Given the description of an element on the screen output the (x, y) to click on. 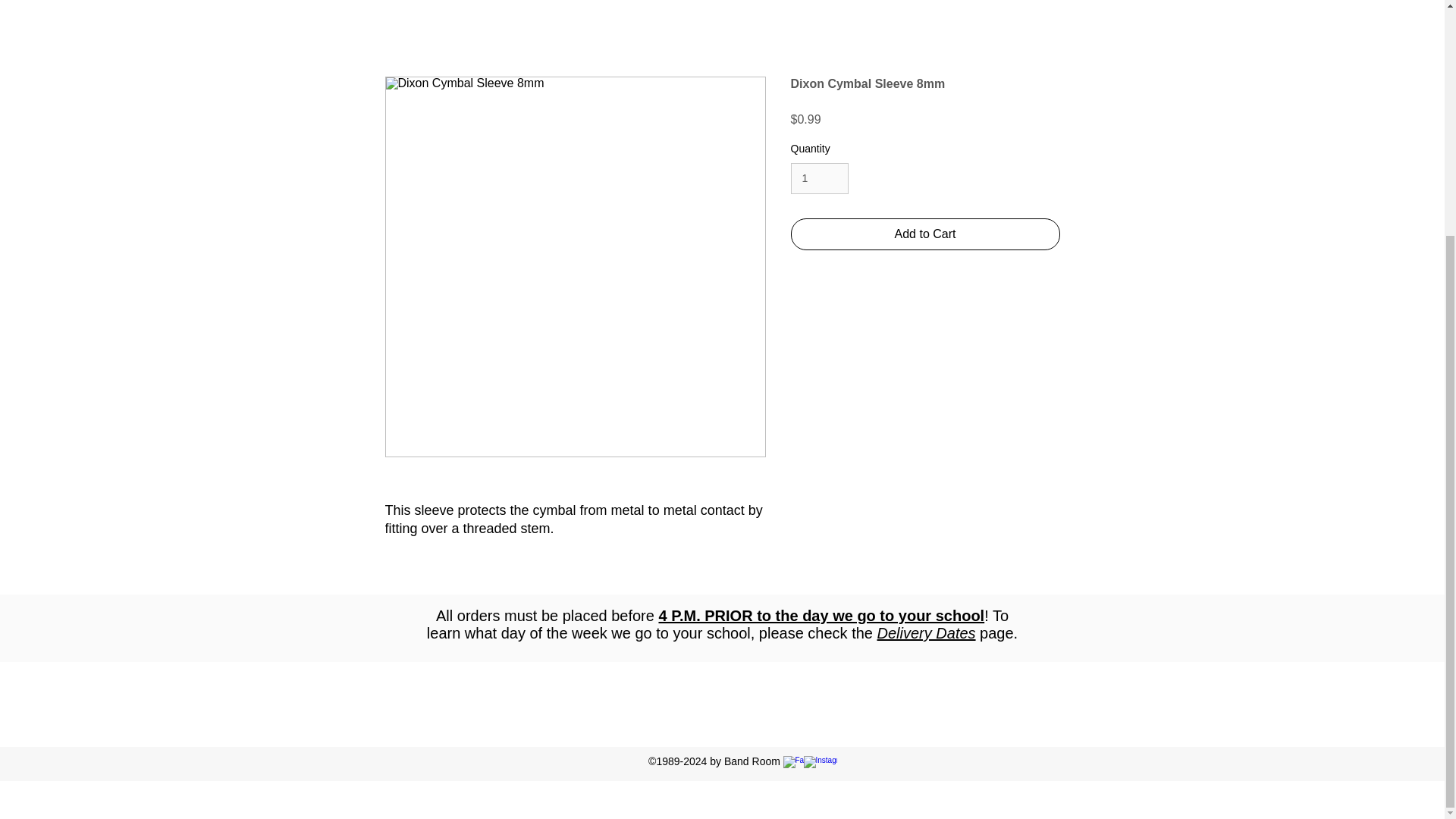
1 (818, 178)
Add to Cart (924, 234)
